Given the description of an element on the screen output the (x, y) to click on. 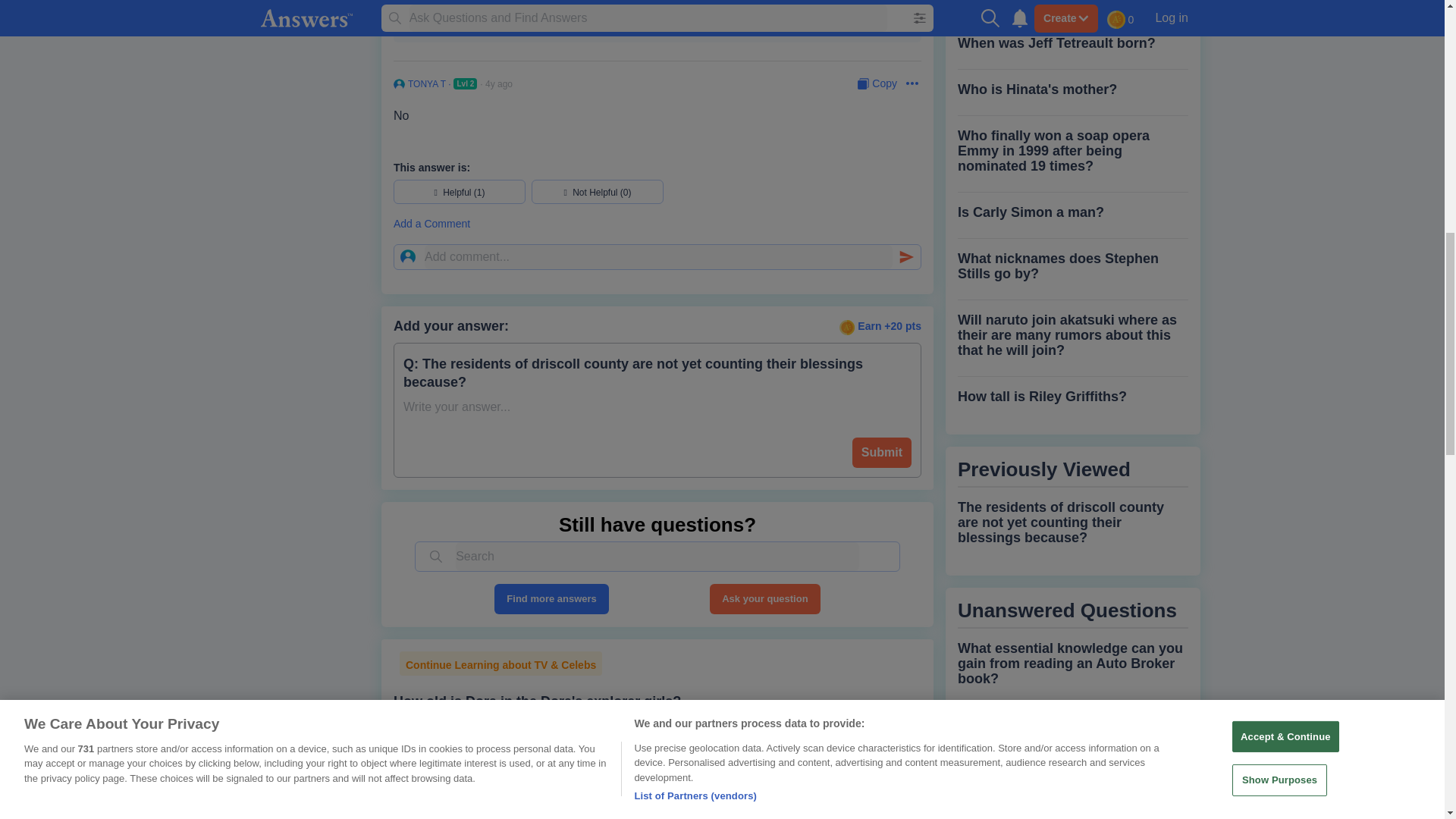
2021-08-17 12:09:22 (526, 3)
2020-03-31 03:52:53 (498, 83)
